Given the description of an element on the screen output the (x, y) to click on. 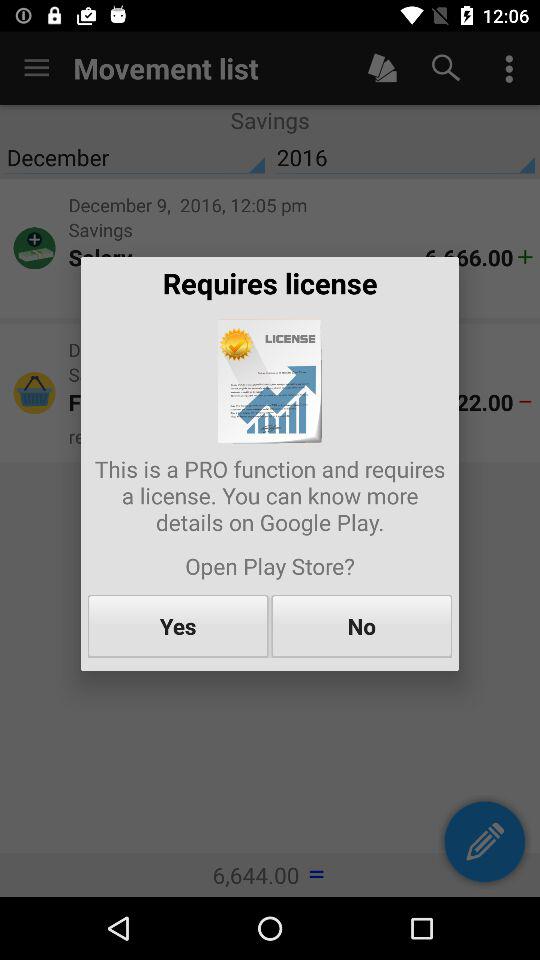
scroll until the no icon (361, 625)
